Given the description of an element on the screen output the (x, y) to click on. 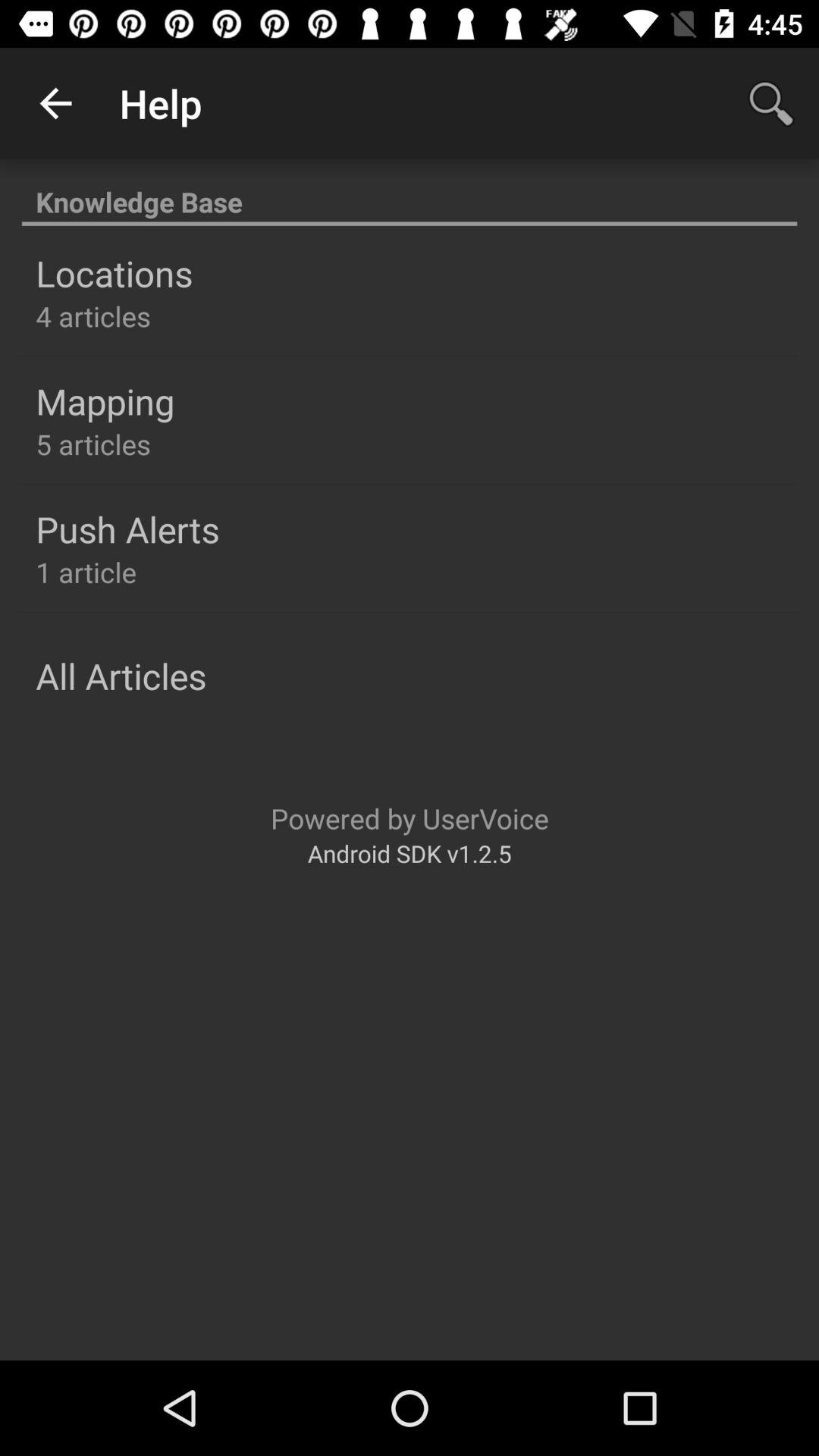
select item below push alerts (85, 571)
